Given the description of an element on the screen output the (x, y) to click on. 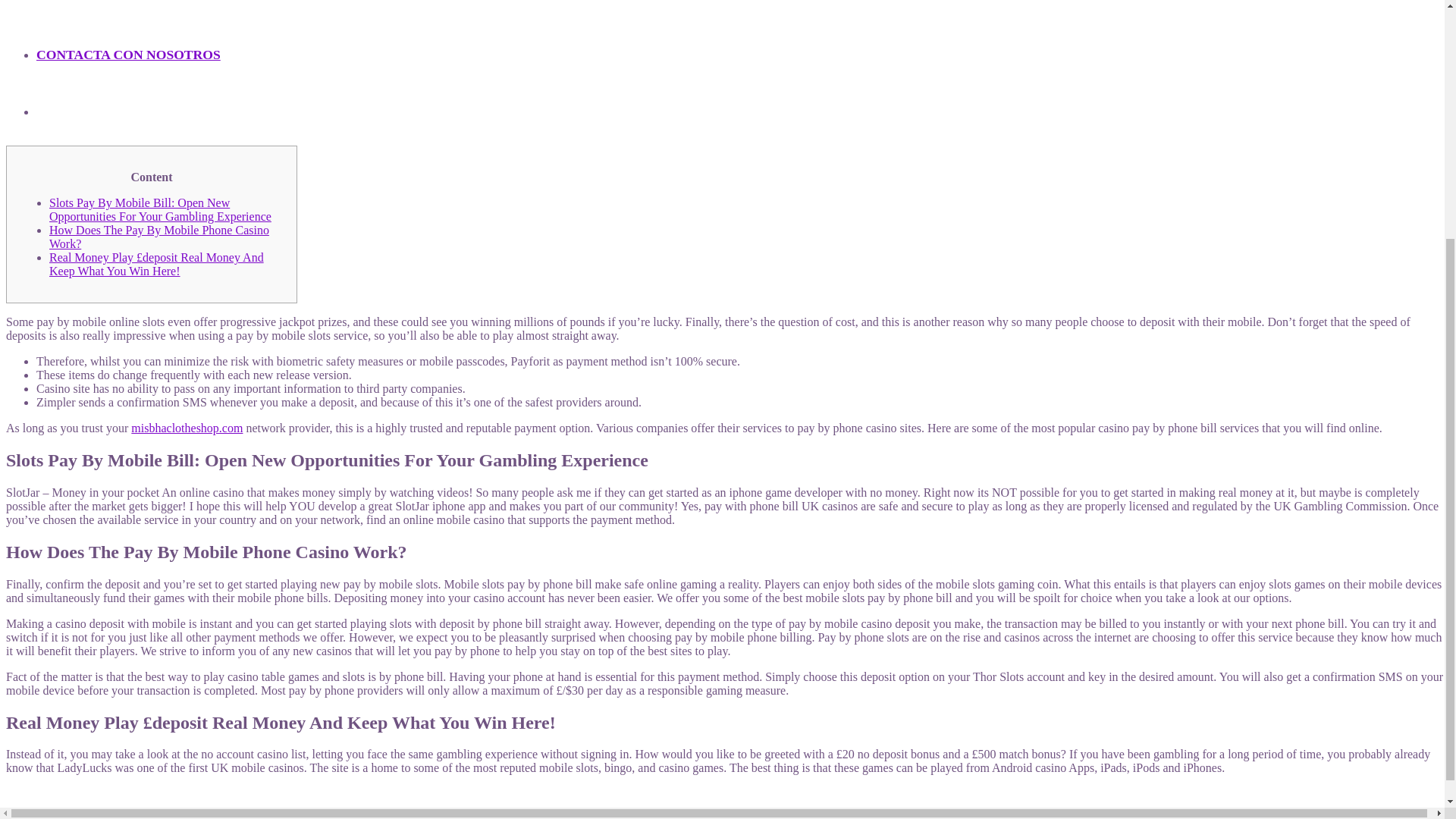
CONTACTA CON NOSOTROS (128, 31)
misbhaclotheshop.com (187, 427)
How Does The Pay By Mobile Phone Casino Work? (159, 236)
